Given the description of an element on the screen output the (x, y) to click on. 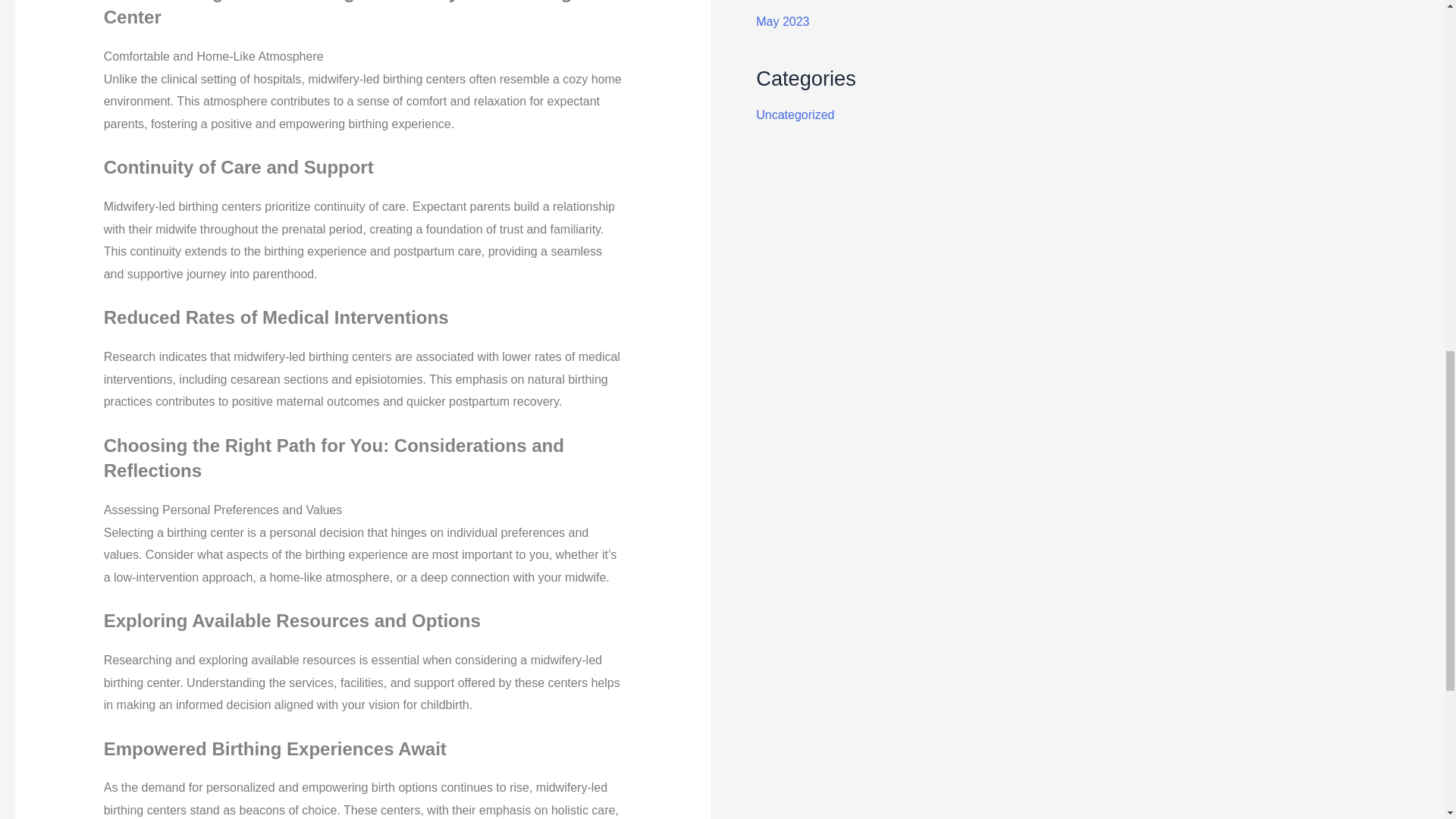
June 2023 (783, 0)
May 2023 (782, 21)
Uncategorized (794, 114)
